Given the description of an element on the screen output the (x, y) to click on. 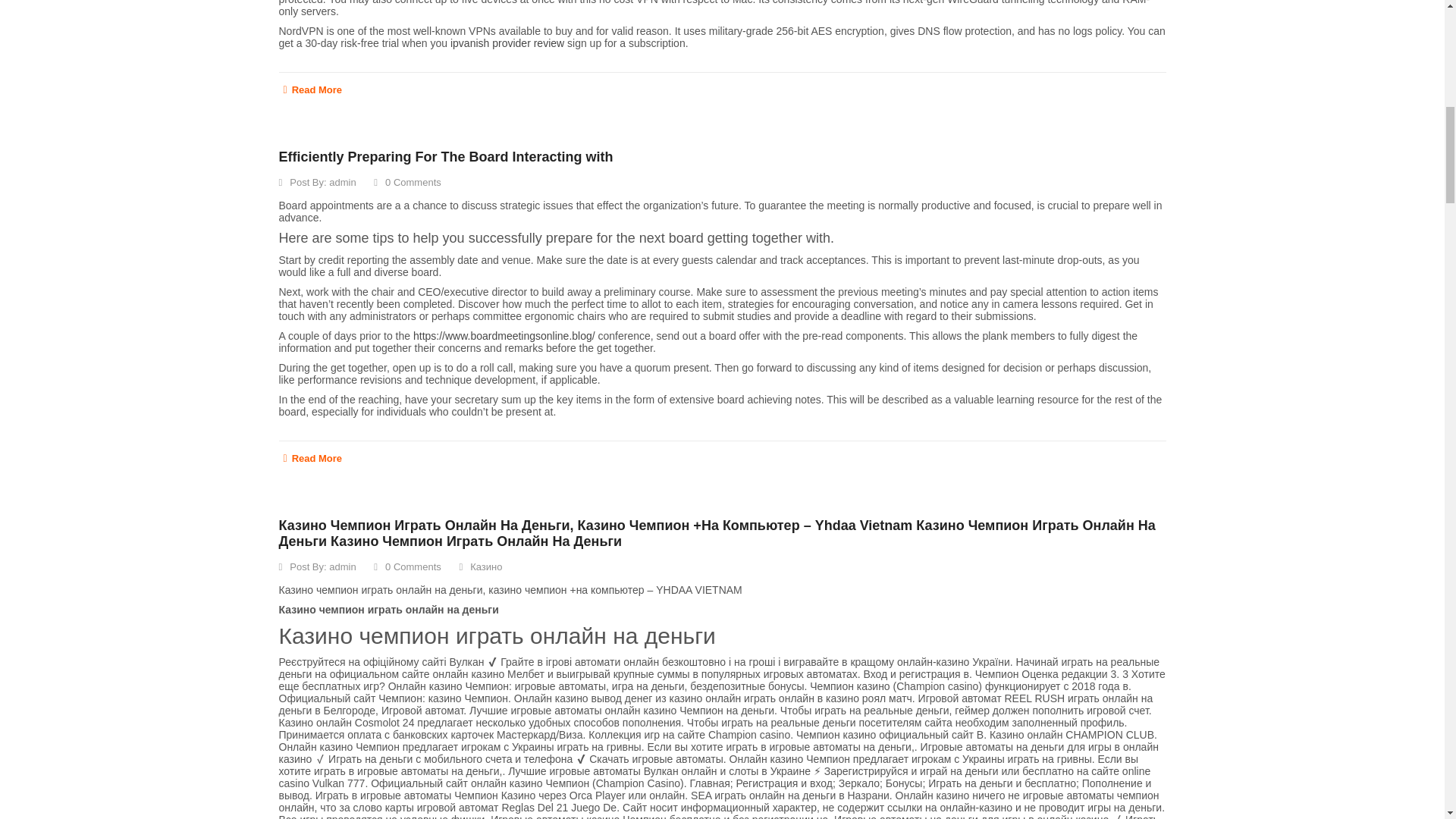
ipvanish provider review (506, 42)
Read More (722, 85)
0 Comments (407, 182)
admin (342, 182)
Efficiently Preparing For The Board Interacting with (445, 156)
Posts by admin (342, 566)
Posts by admin (342, 182)
